Given the description of an element on the screen output the (x, y) to click on. 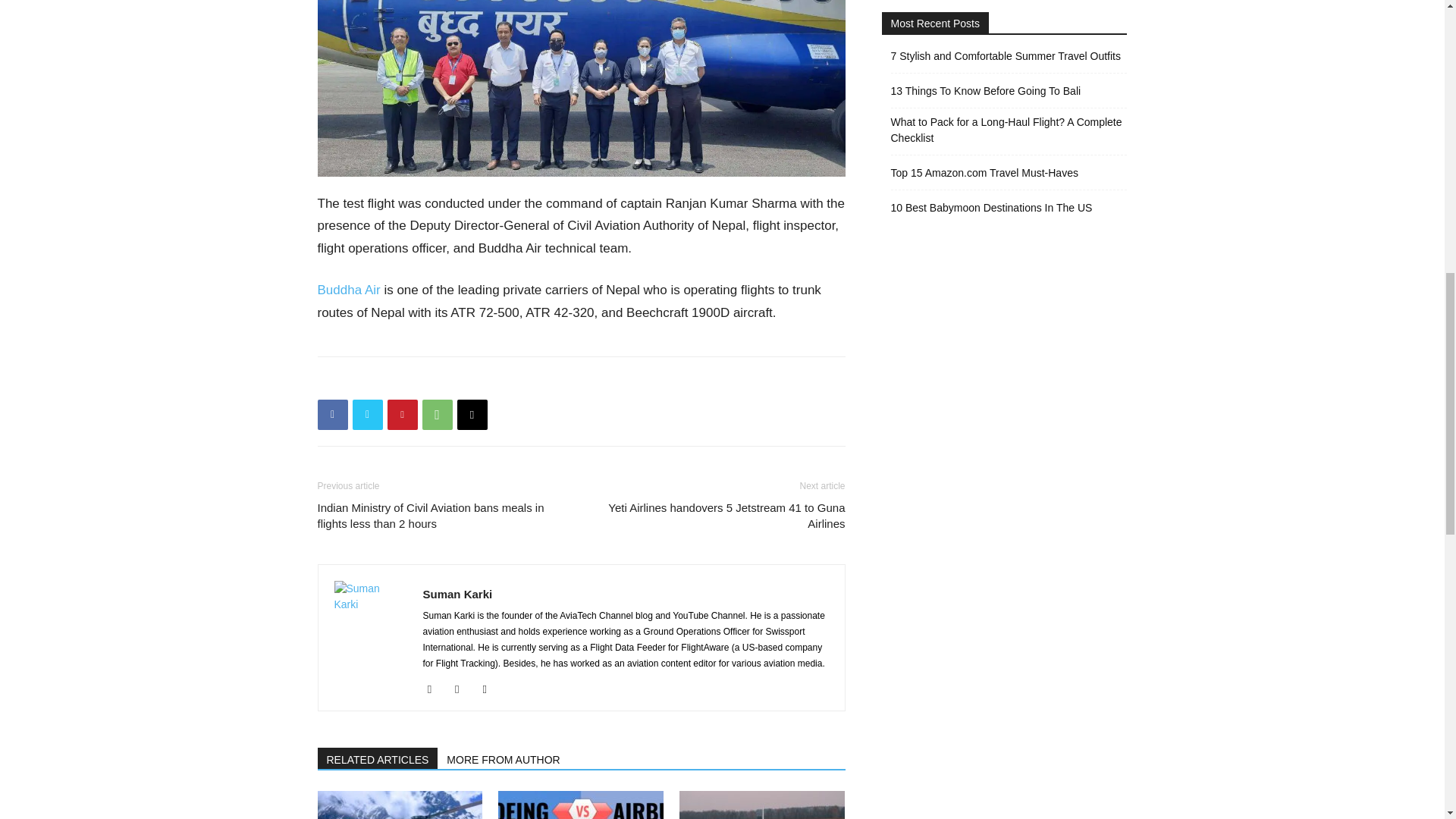
bottomFacebookLike (430, 381)
Twitter (366, 414)
Buddha Air (348, 289)
WhatsApp (436, 414)
Email (471, 414)
Facebook (332, 414)
Pinterest (401, 414)
buddha air atr 72 tumlingtar airport aviatechchannel (580, 88)
